Given the description of an element on the screen output the (x, y) to click on. 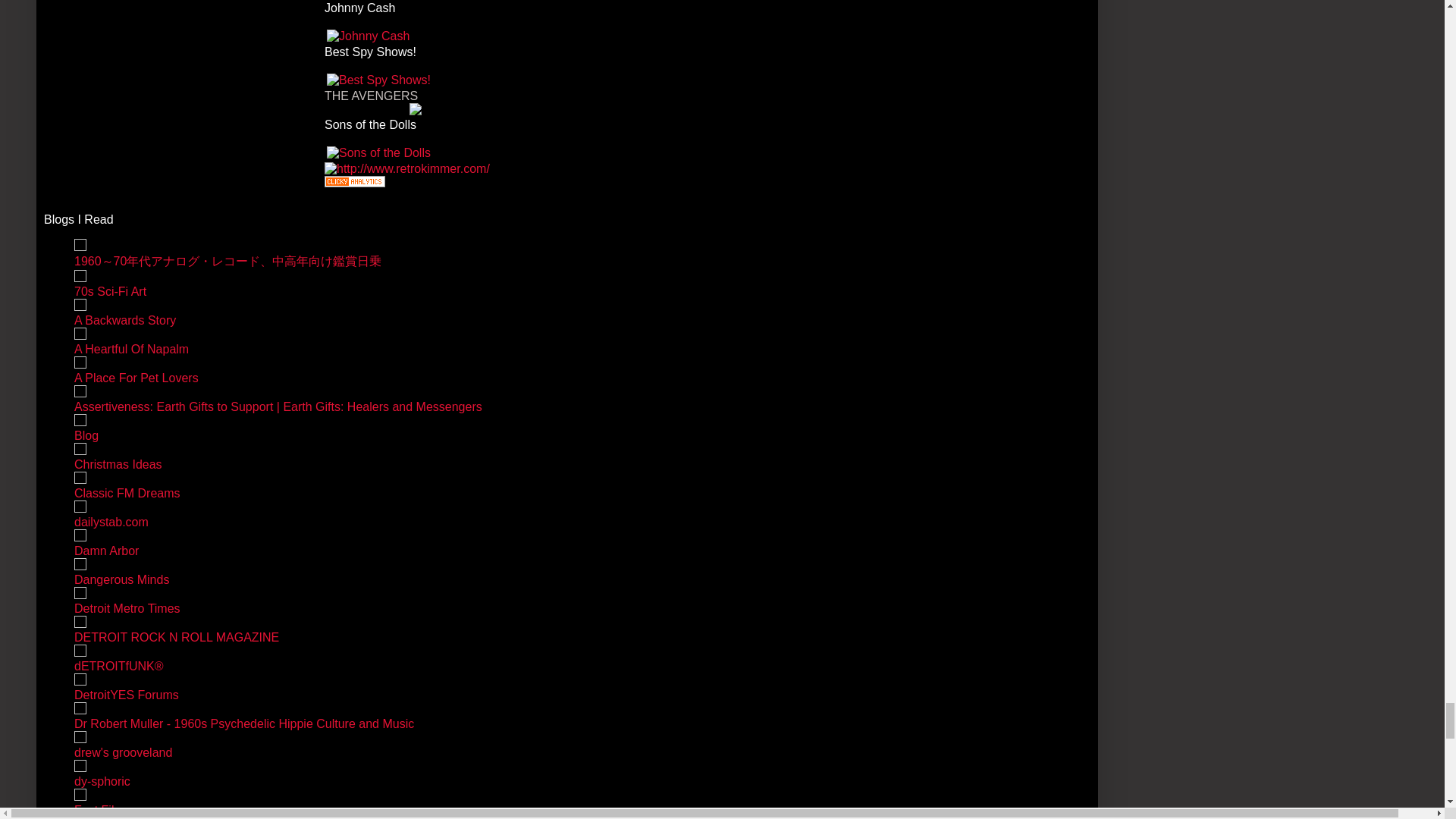
Google Analytics Alternative (354, 182)
